Given the description of an element on the screen output the (x, y) to click on. 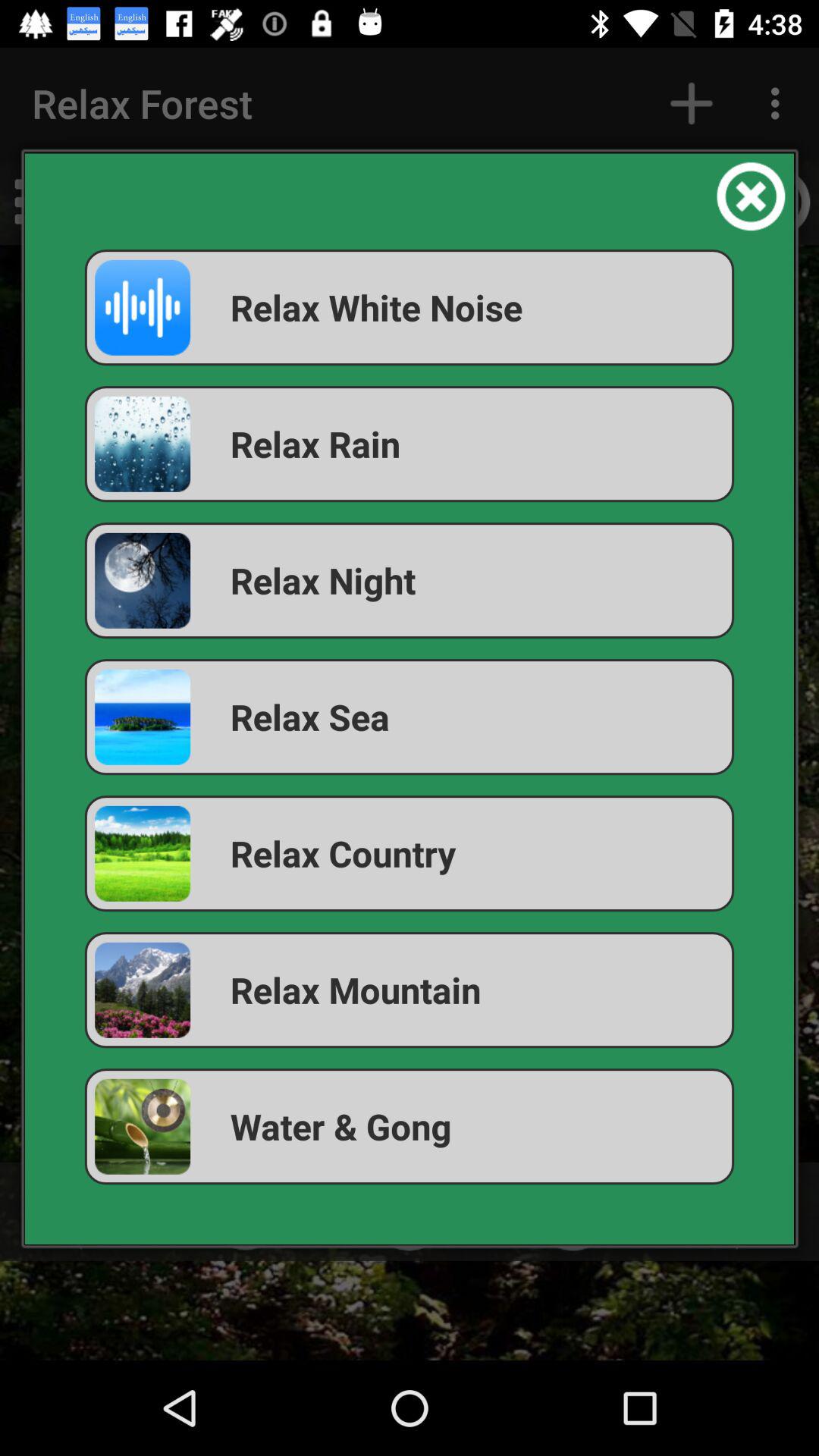
click the item above the relax white noise app (750, 196)
